Given the description of an element on the screen output the (x, y) to click on. 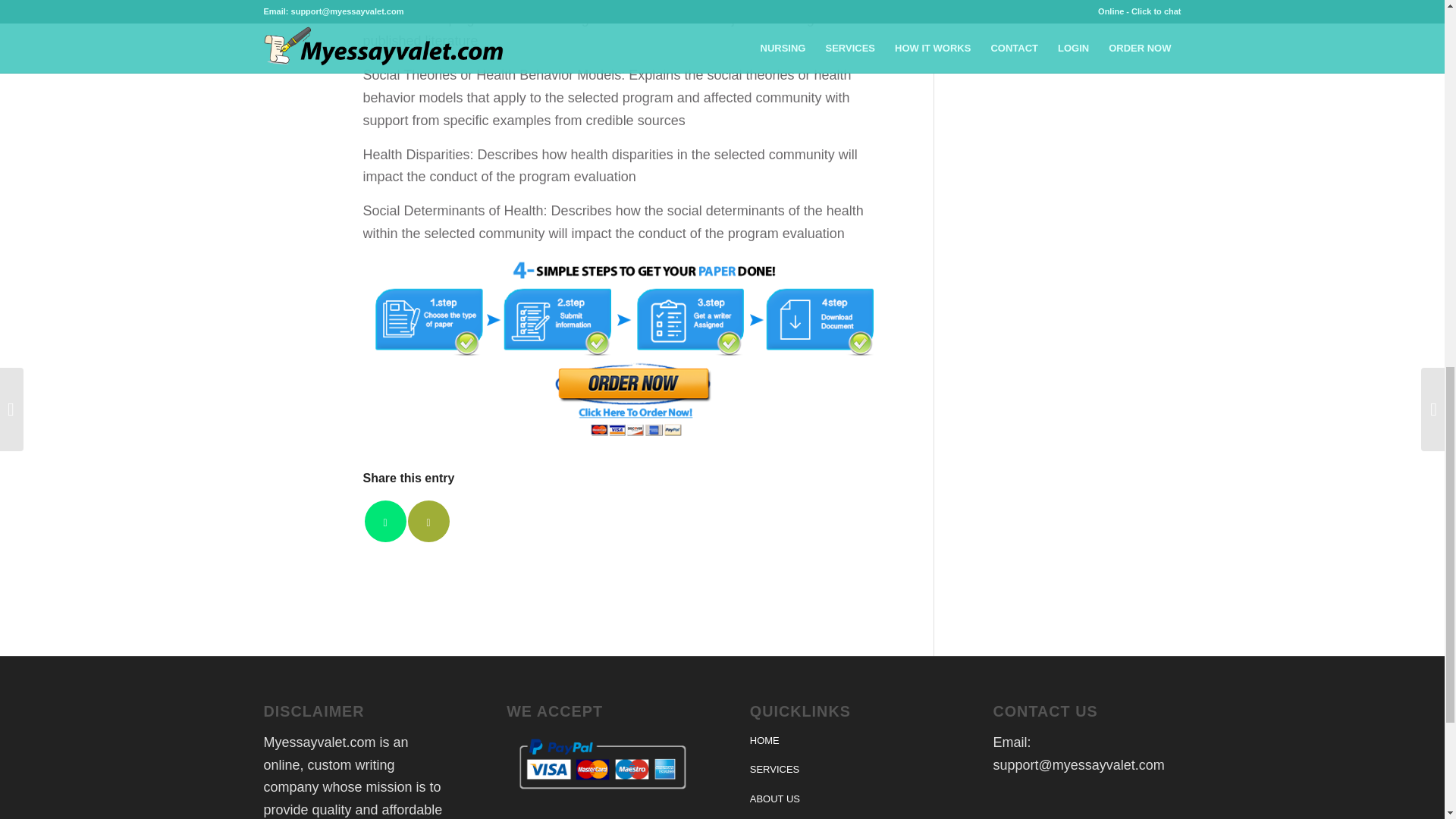
SERVICES (843, 769)
ABOUT US (843, 799)
HOME (843, 740)
FAQs (843, 816)
